Given the description of an element on the screen output the (x, y) to click on. 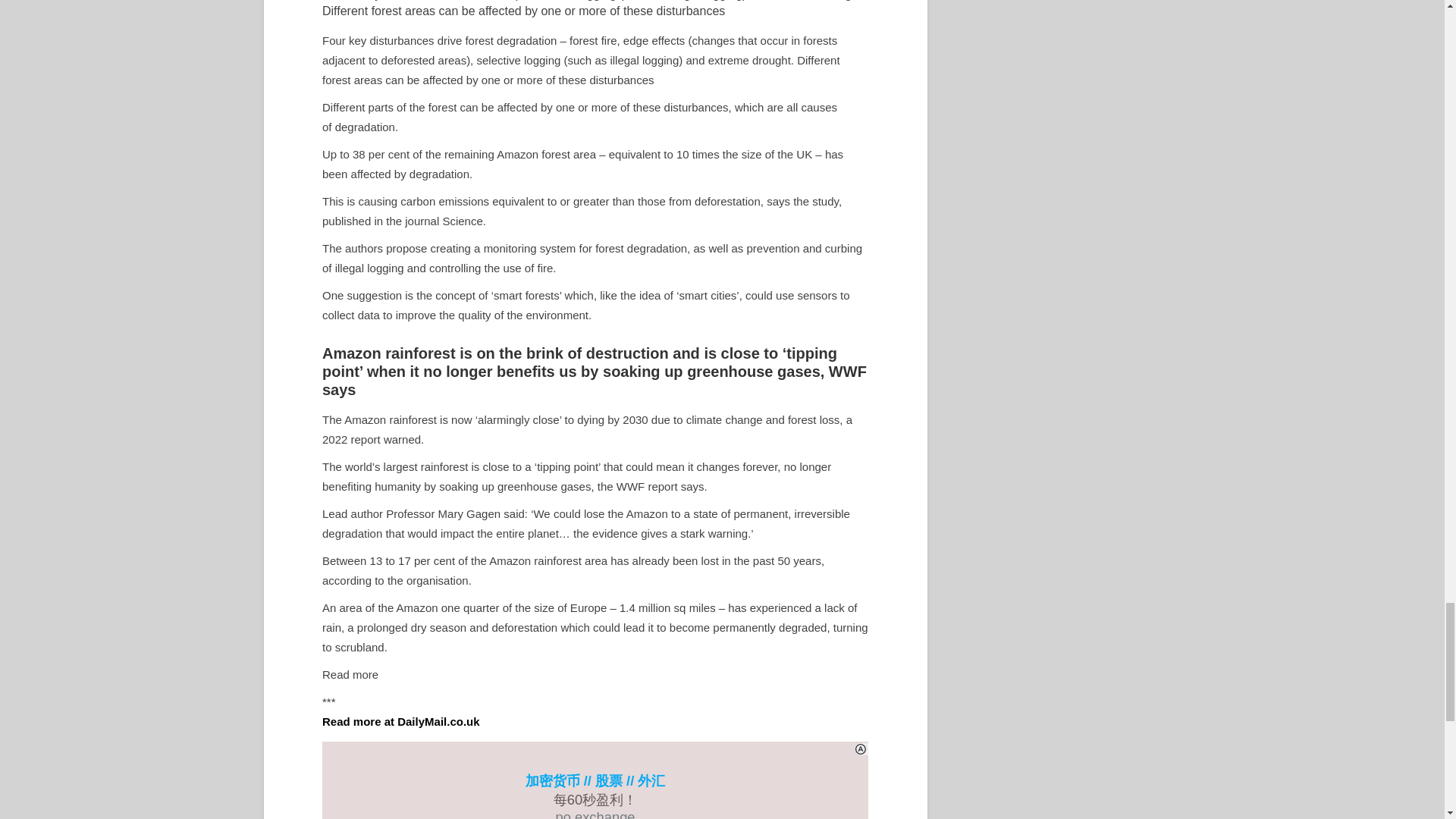
Read more at DailyMail.co.uk (400, 721)
